Given the description of an element on the screen output the (x, y) to click on. 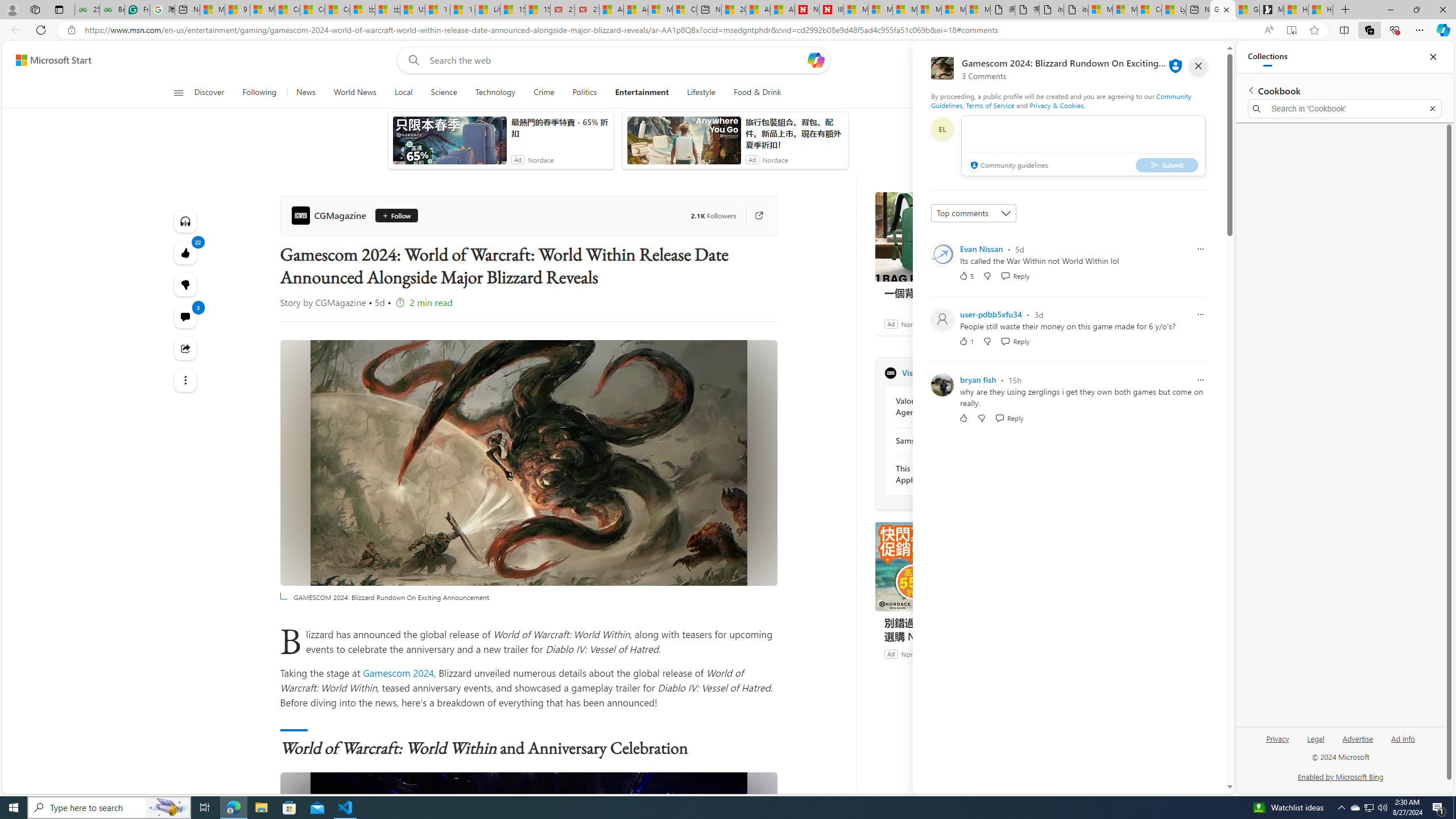
Enter your search term (617, 59)
Go to publisher's site (752, 215)
Microsoft Start Gaming (1271, 9)
Ad info (1402, 738)
